Given the description of an element on the screen output the (x, y) to click on. 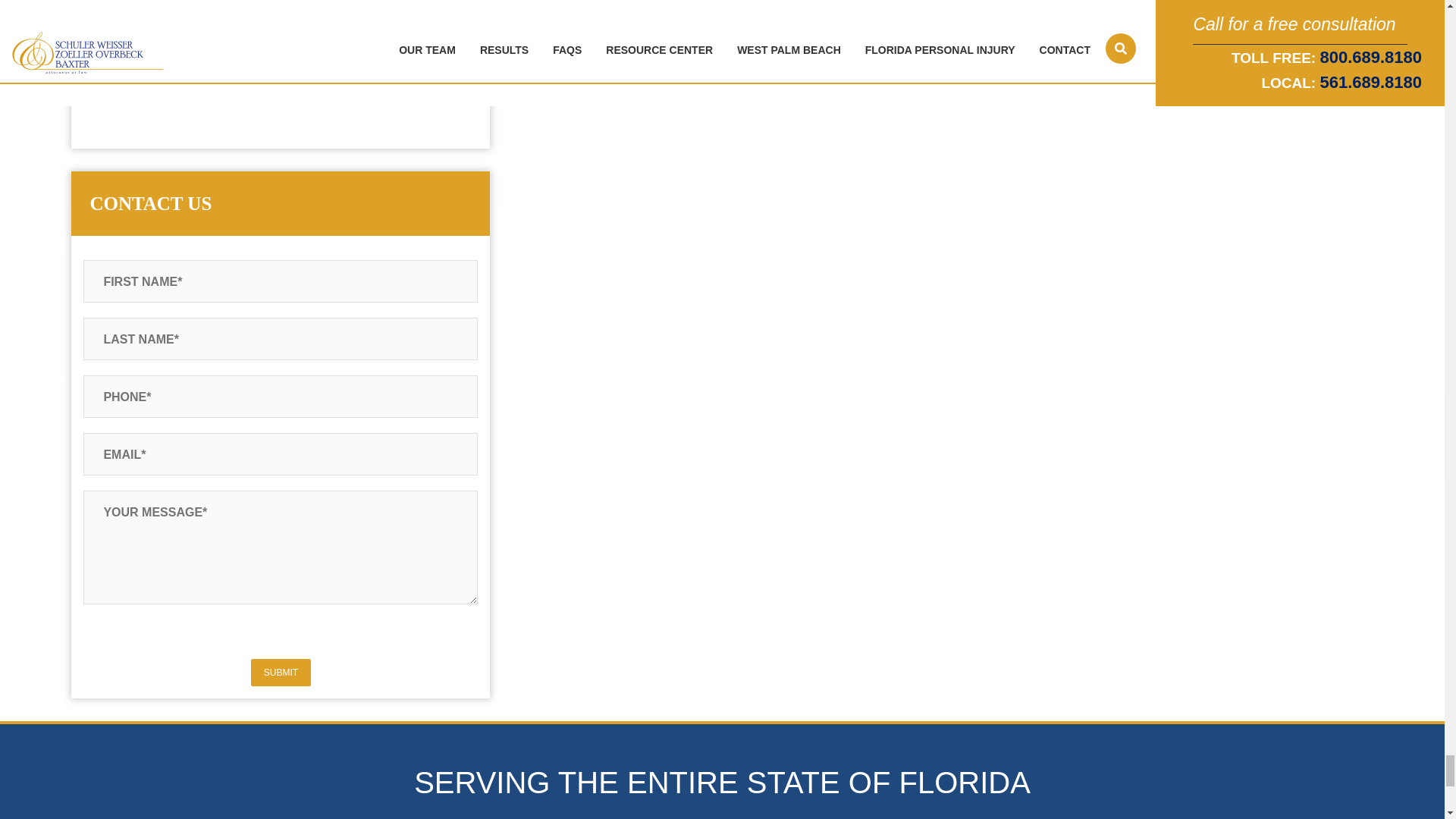
Submit (280, 672)
